Given the description of an element on the screen output the (x, y) to click on. 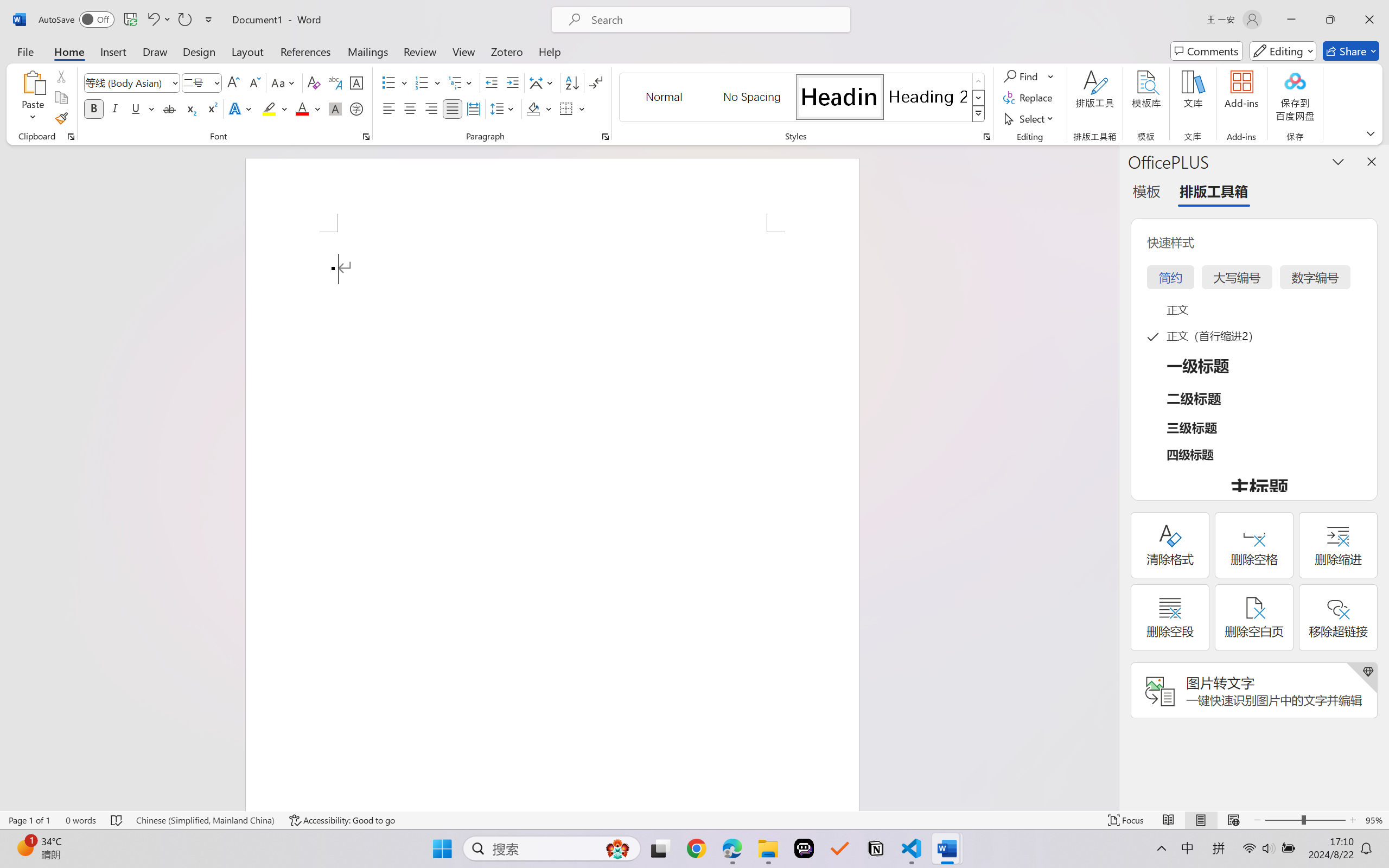
Zoom 95% (1374, 819)
